Given the description of an element on the screen output the (x, y) to click on. 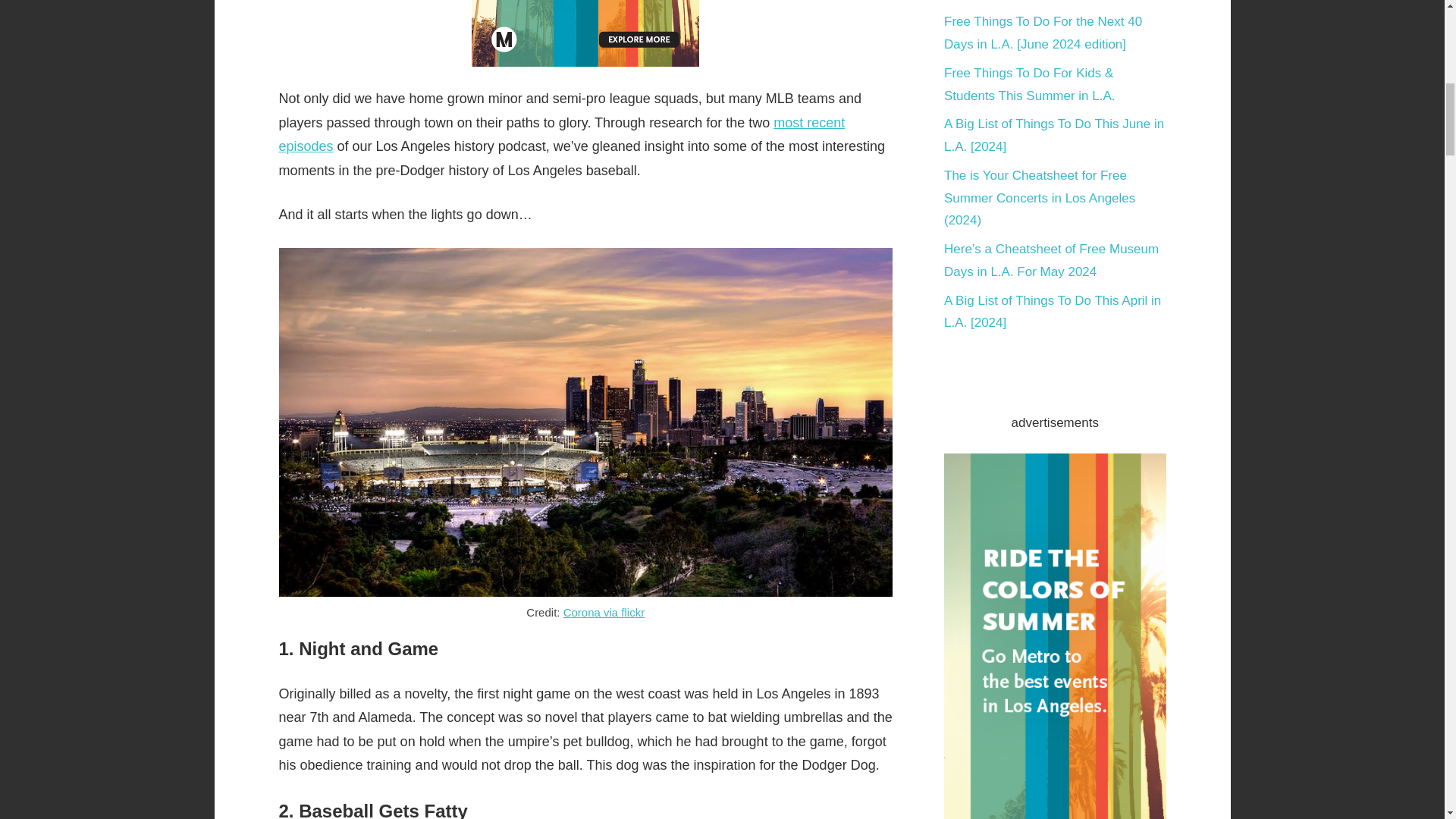
Corona via flickr (604, 612)
most recent episodes (562, 134)
